Given the description of an element on the screen output the (x, y) to click on. 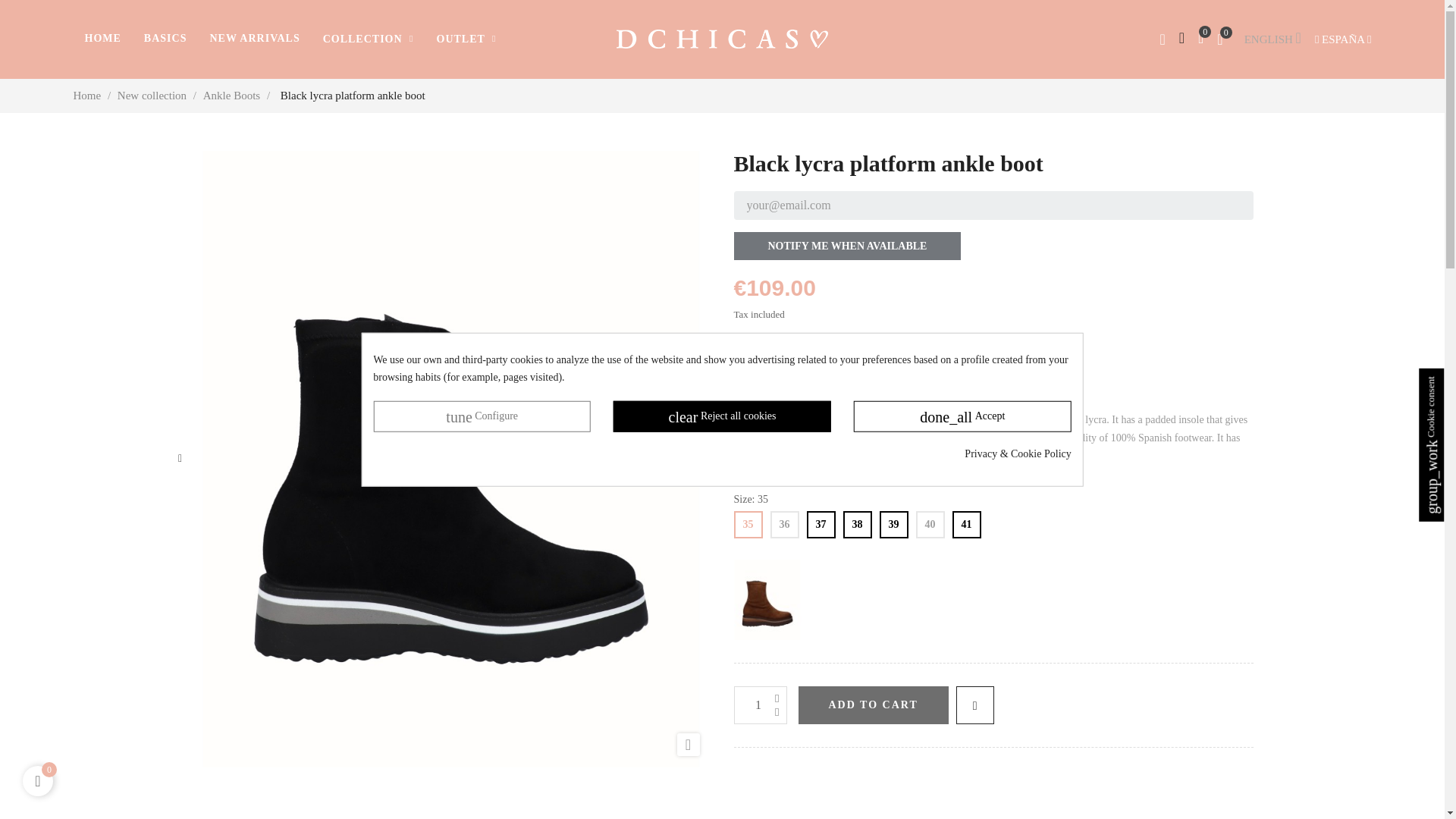
COLLECTION (368, 39)
1 (760, 704)
Language (1265, 39)
HOME (102, 39)
BASICS (165, 39)
New collection (153, 95)
Ankle Boots (233, 95)
ENGLISH (1265, 39)
NEW ARRIVALS (254, 39)
Home (87, 95)
